Given the description of an element on the screen output the (x, y) to click on. 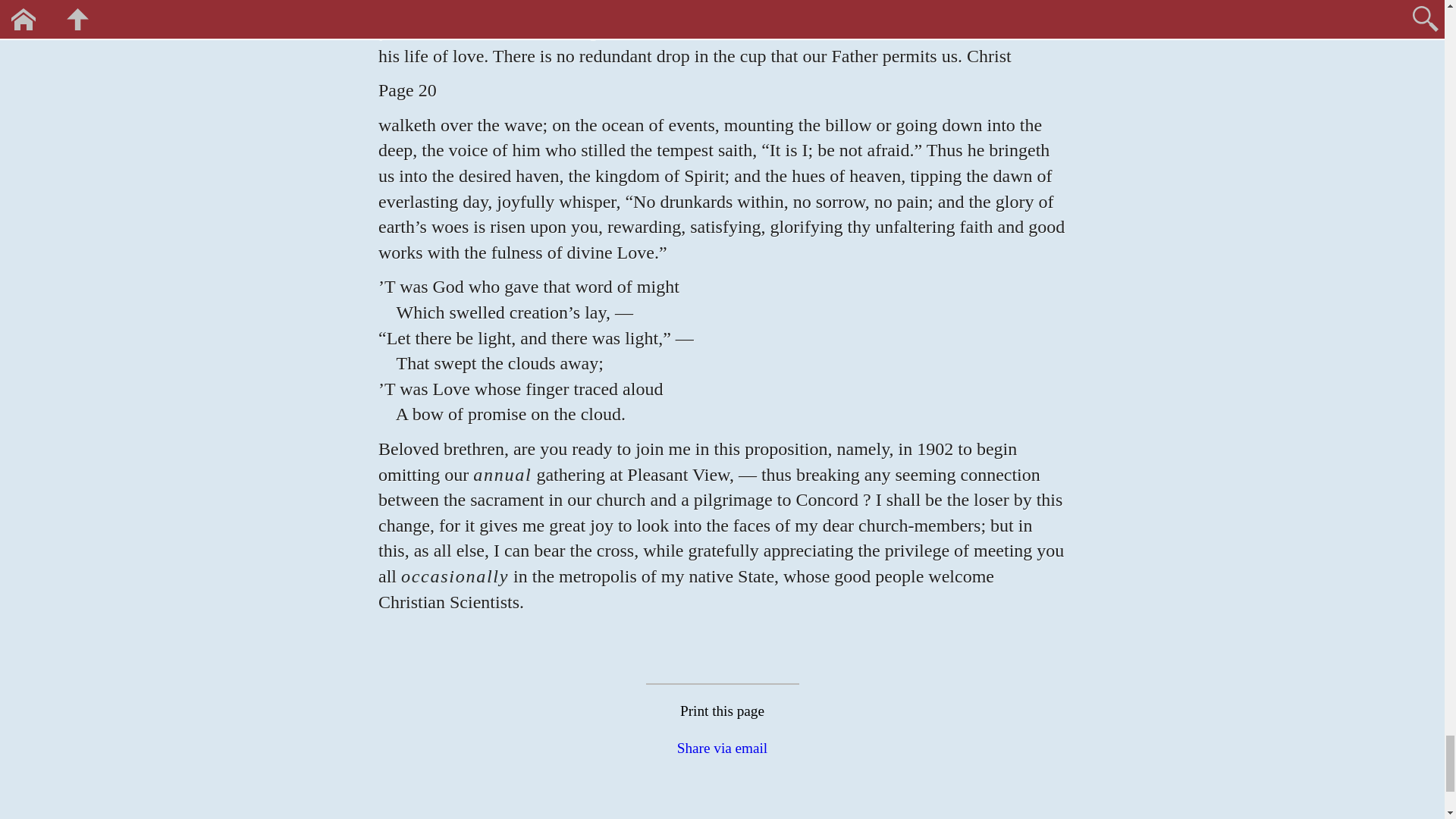
Email this article to a friend. (722, 747)
